Given the description of an element on the screen output the (x, y) to click on. 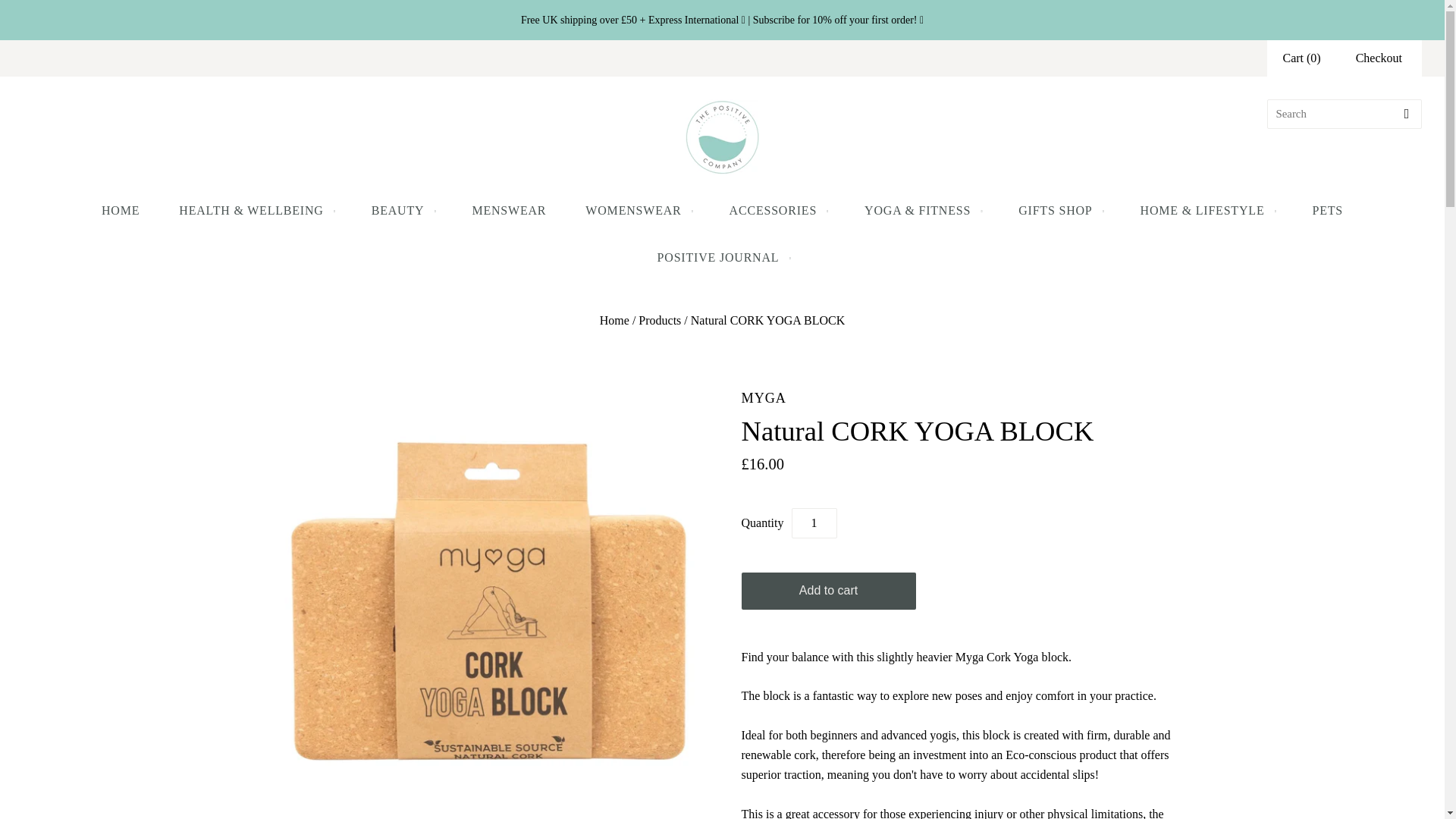
Checkout (1378, 57)
HOME (119, 210)
Add to cart (828, 590)
1 (814, 522)
BEAUTY (402, 210)
